Given the description of an element on the screen output the (x, y) to click on. 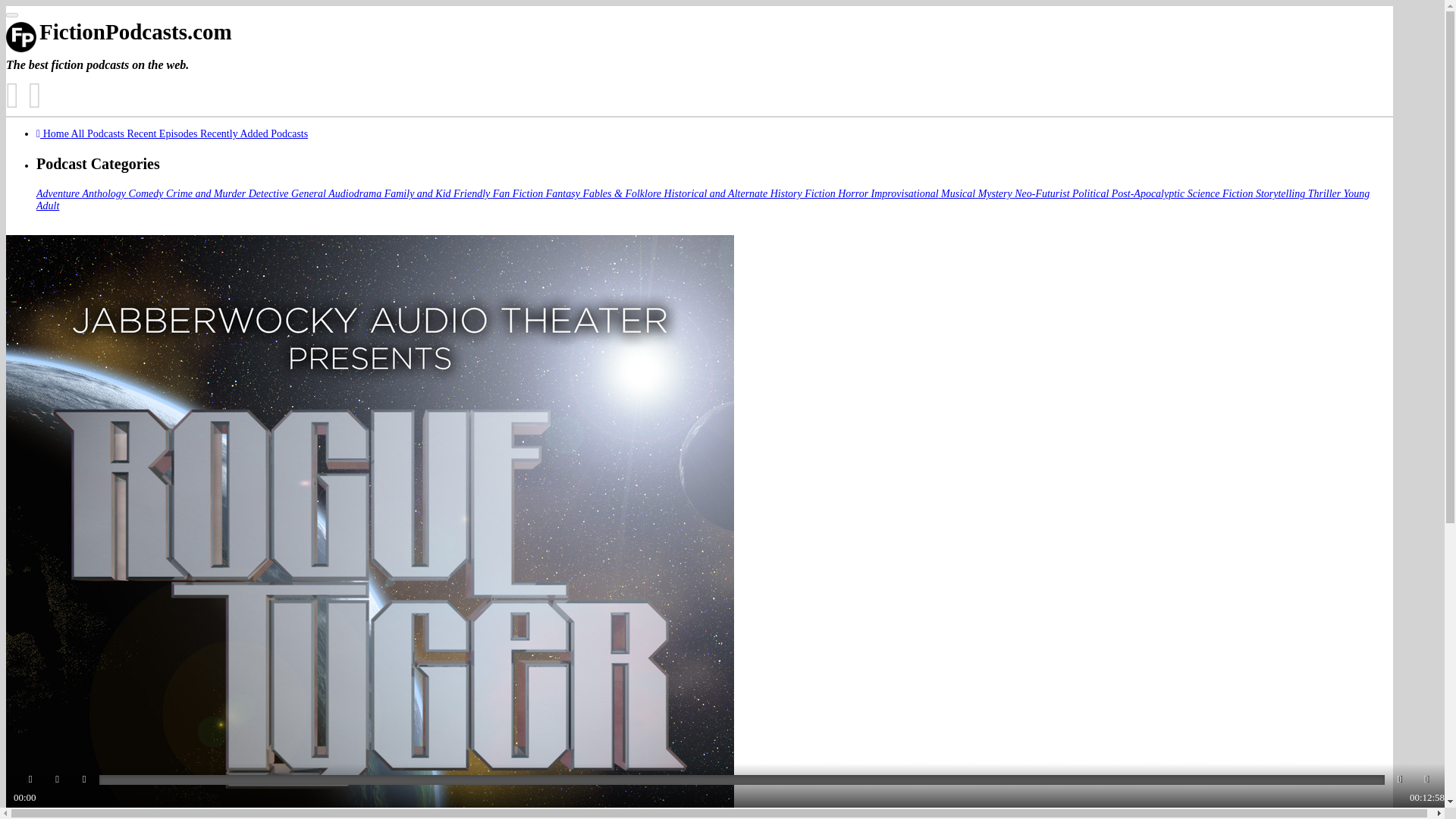
Anthology (105, 193)
Historical and Alternate History Fiction (750, 193)
All Podcasts (99, 133)
Detective (269, 193)
Adventure (59, 193)
Young Adult (703, 199)
Fan Fiction (519, 193)
Crime and Murder (206, 193)
Storytelling (1281, 193)
Recent Episodes (162, 133)
Home (53, 133)
Science Fiction (1221, 193)
Neo-Futurist (1042, 193)
Forward 10 Seconds (1398, 779)
Rewind (57, 779)
